Given the description of an element on the screen output the (x, y) to click on. 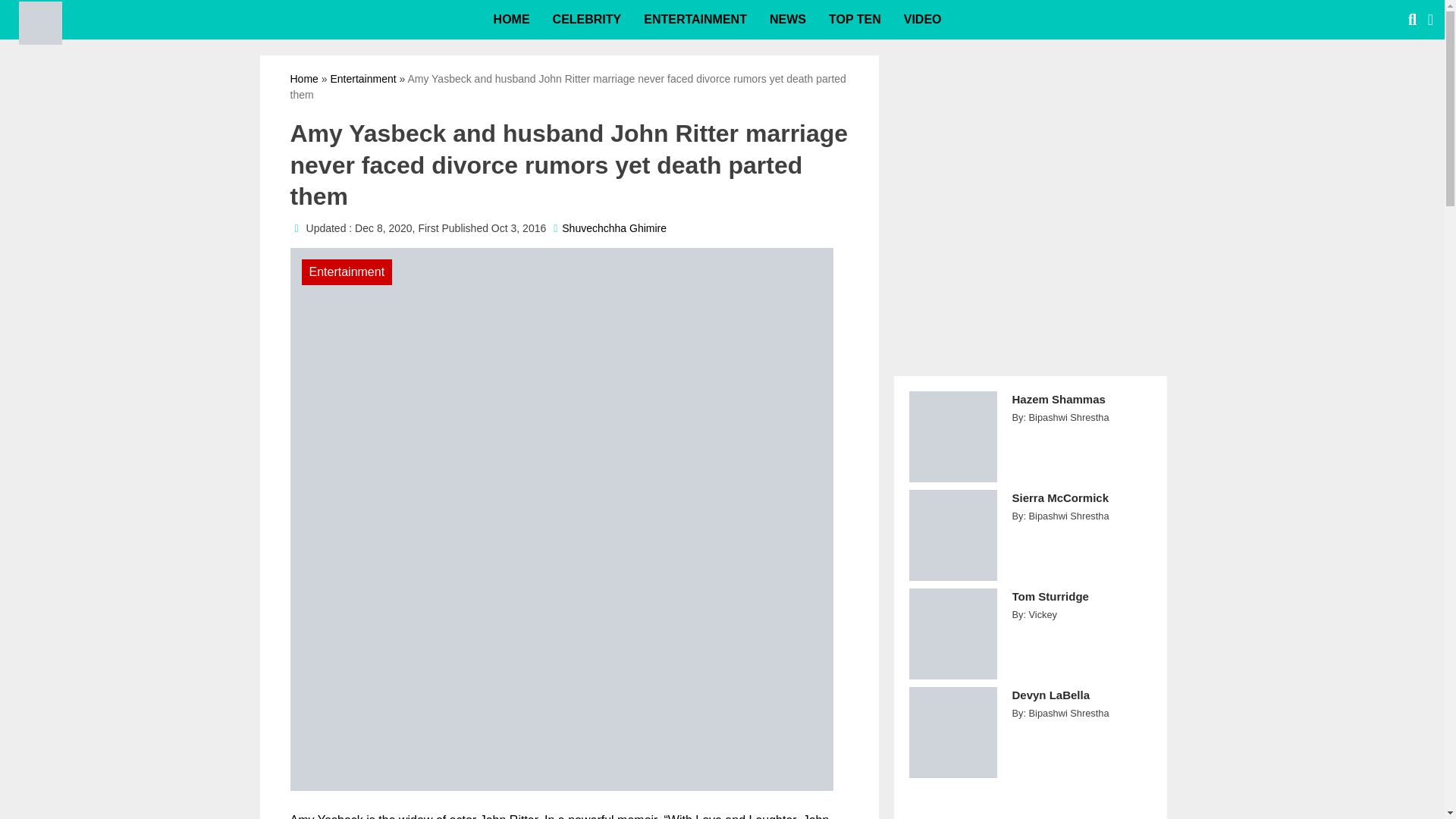
ENTERTAINMENT (694, 19)
Entertainment (363, 78)
NEWS (787, 19)
Shuvechchha Ghimire (614, 227)
VIDEO (922, 19)
CELEBRITY (587, 19)
Shuvechchha Ghimire (614, 227)
TOP TEN (854, 19)
Home (303, 78)
Hazem Shammas (1081, 407)
HOME (511, 19)
Sierra McCormick (1081, 505)
